Given the description of an element on the screen output the (x, y) to click on. 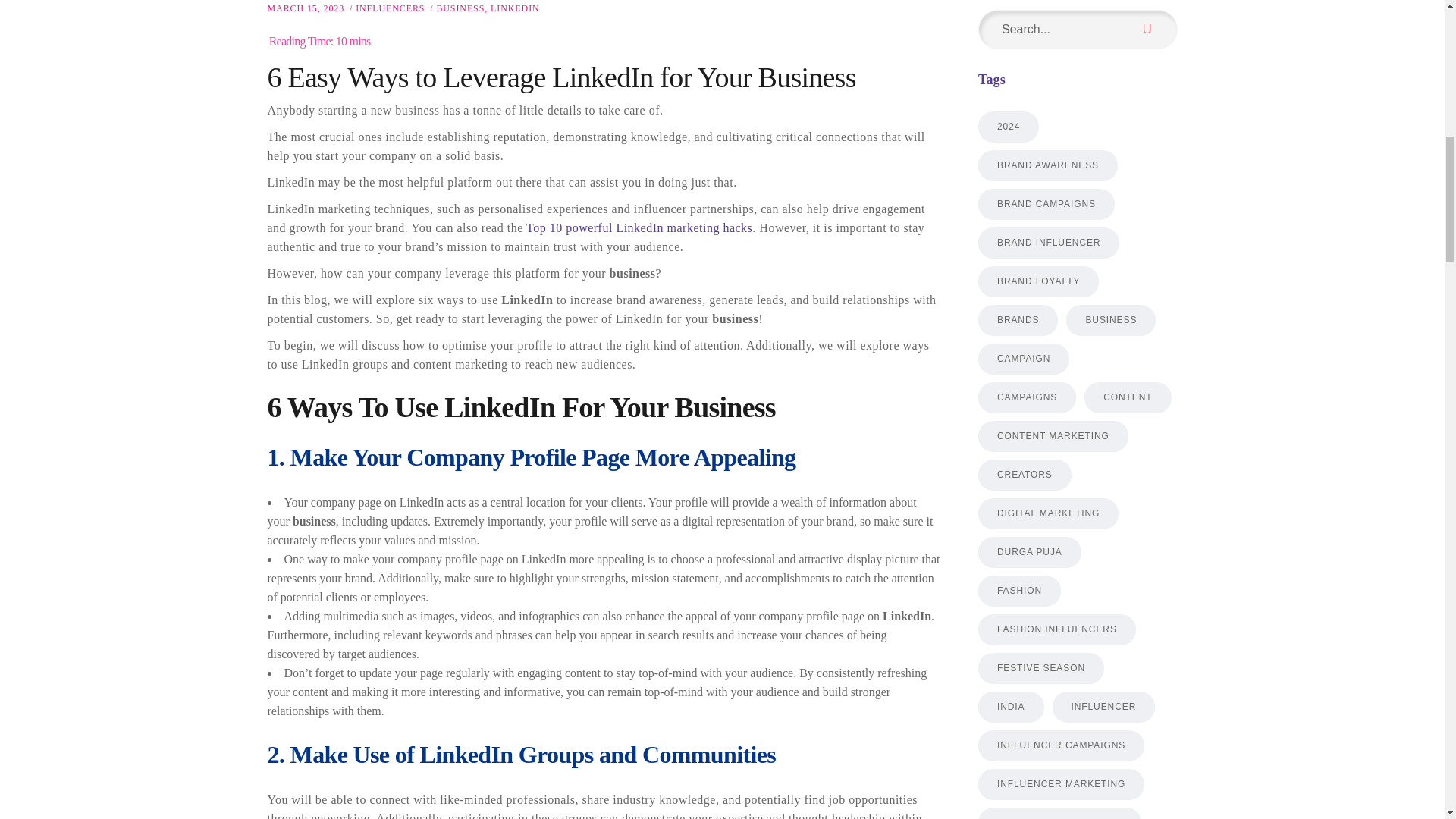
INFLUENCERS (390, 8)
Top 10 powerful LinkedIn marketing hacks (638, 227)
MARCH 15, 2023 (304, 8)
BUSINESS (459, 8)
LINKEDIN (515, 8)
Search for: (1053, 29)
